Given the description of an element on the screen output the (x, y) to click on. 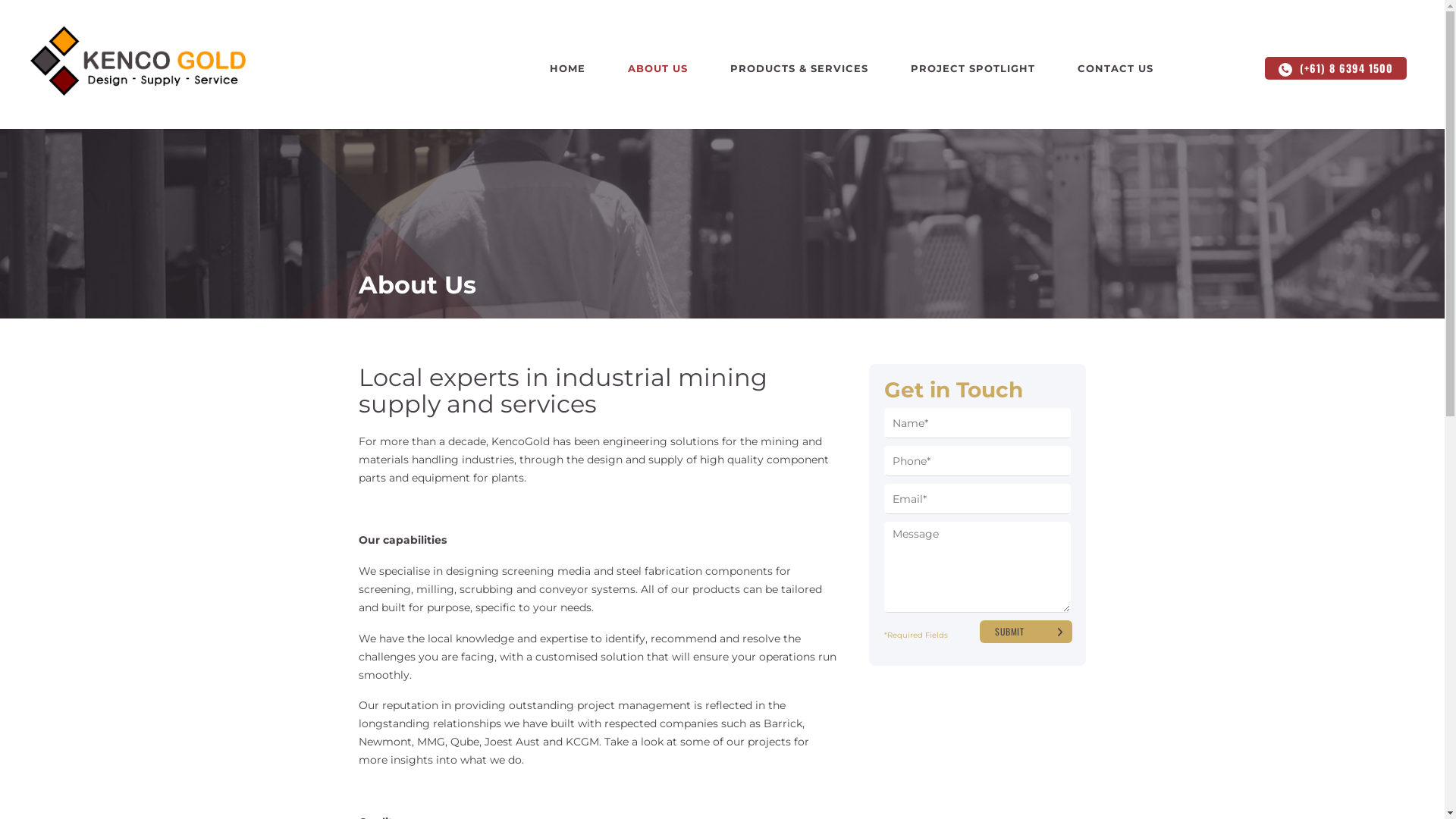
ABOUT US Element type: text (657, 68)
Kenco Gold Element type: hover (137, 60)
(+61) 8 6394 1500 Element type: text (1335, 67)
HOME Element type: text (577, 68)
PROJECT SPOTLIGHT Element type: text (972, 68)
Submit Element type: text (1024, 631)
PRODUCTS & SERVICES Element type: text (799, 68)
CONTACT US Element type: text (1104, 68)
